Given the description of an element on the screen output the (x, y) to click on. 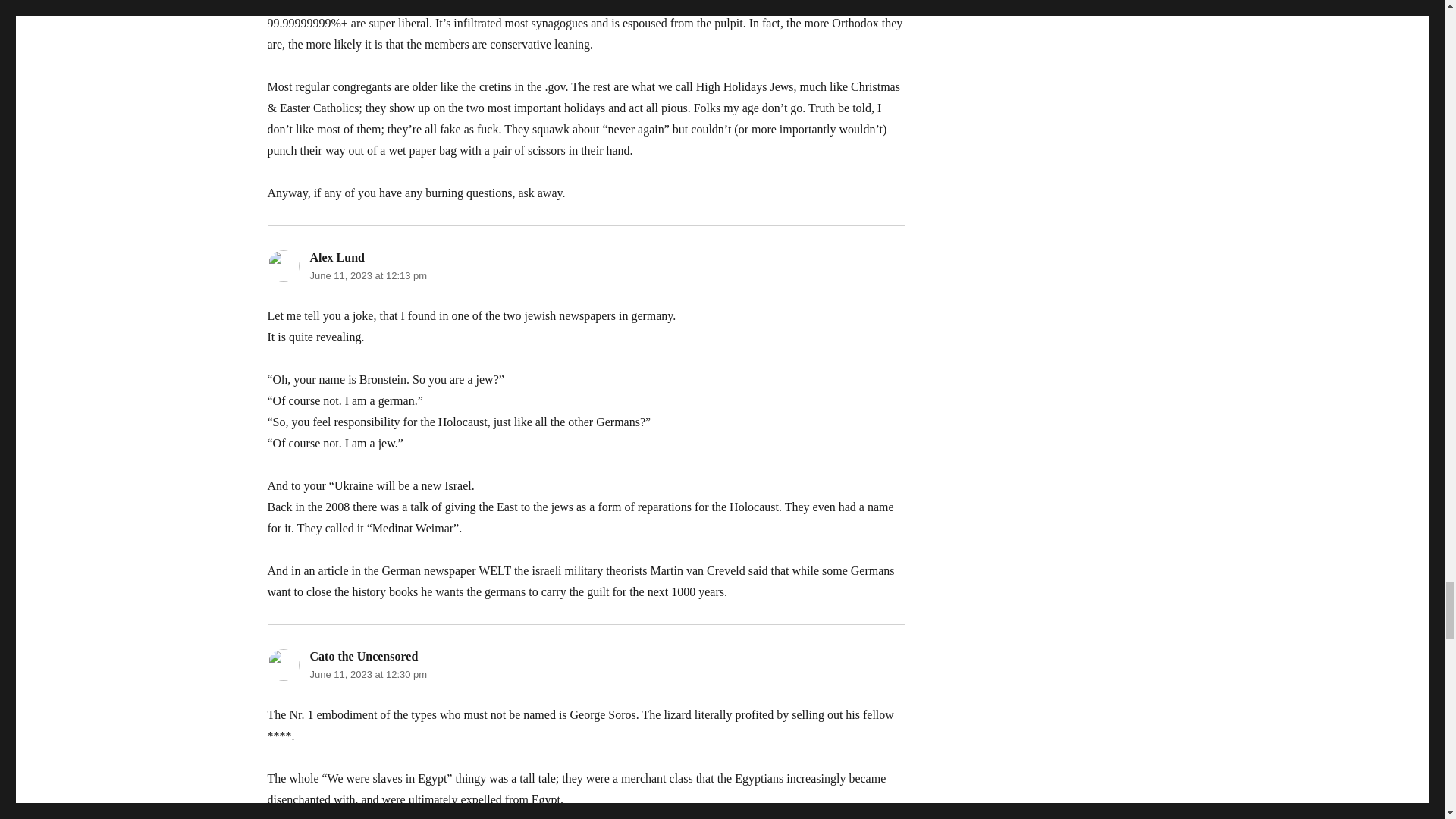
June 11, 2023 at 12:13 pm (367, 275)
June 11, 2023 at 12:30 pm (367, 674)
